Given the description of an element on the screen output the (x, y) to click on. 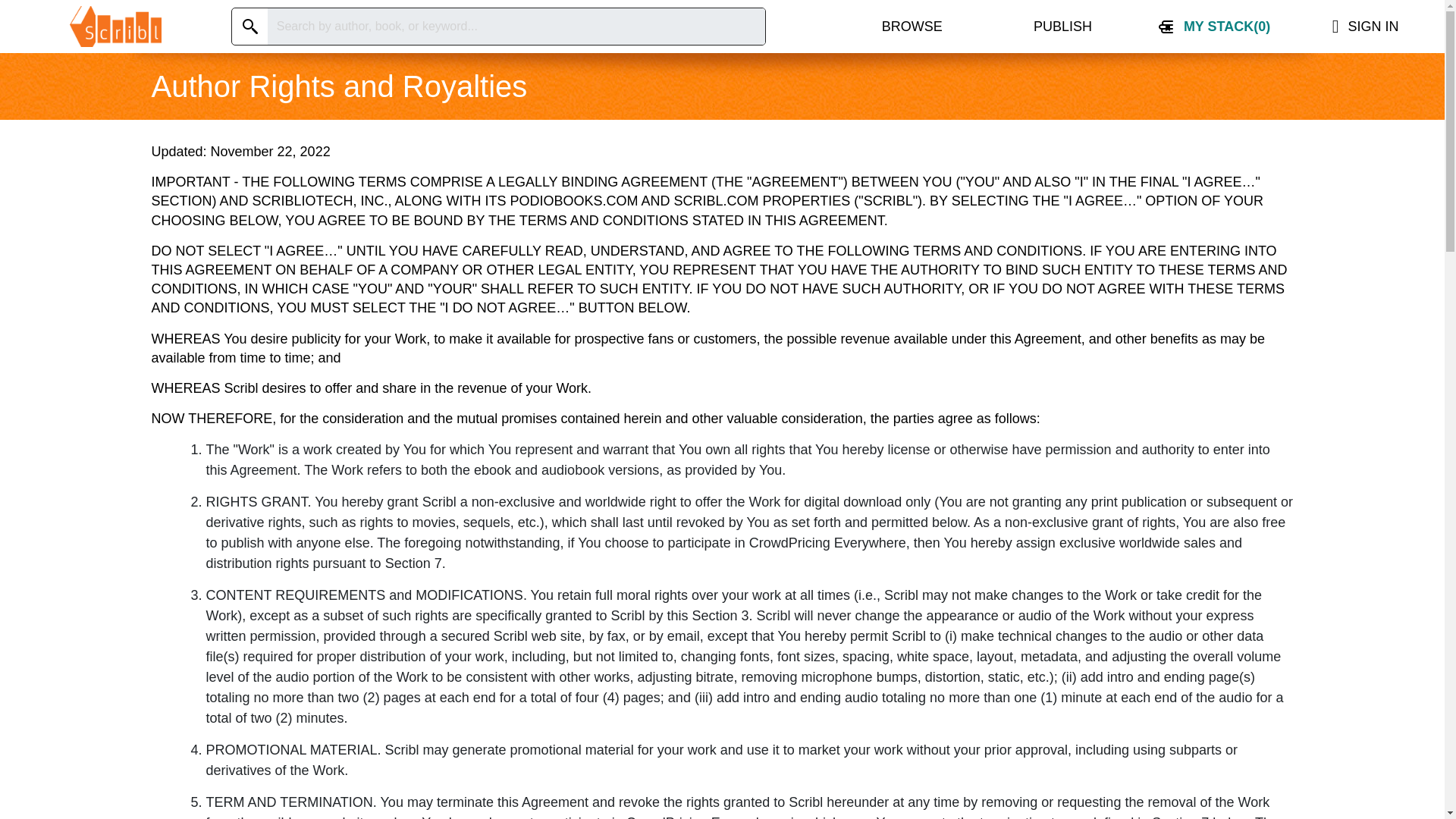
BROWSE (911, 26)
  SIGN IN (1365, 26)
PUBLISH (1062, 26)
